Given the description of an element on the screen output the (x, y) to click on. 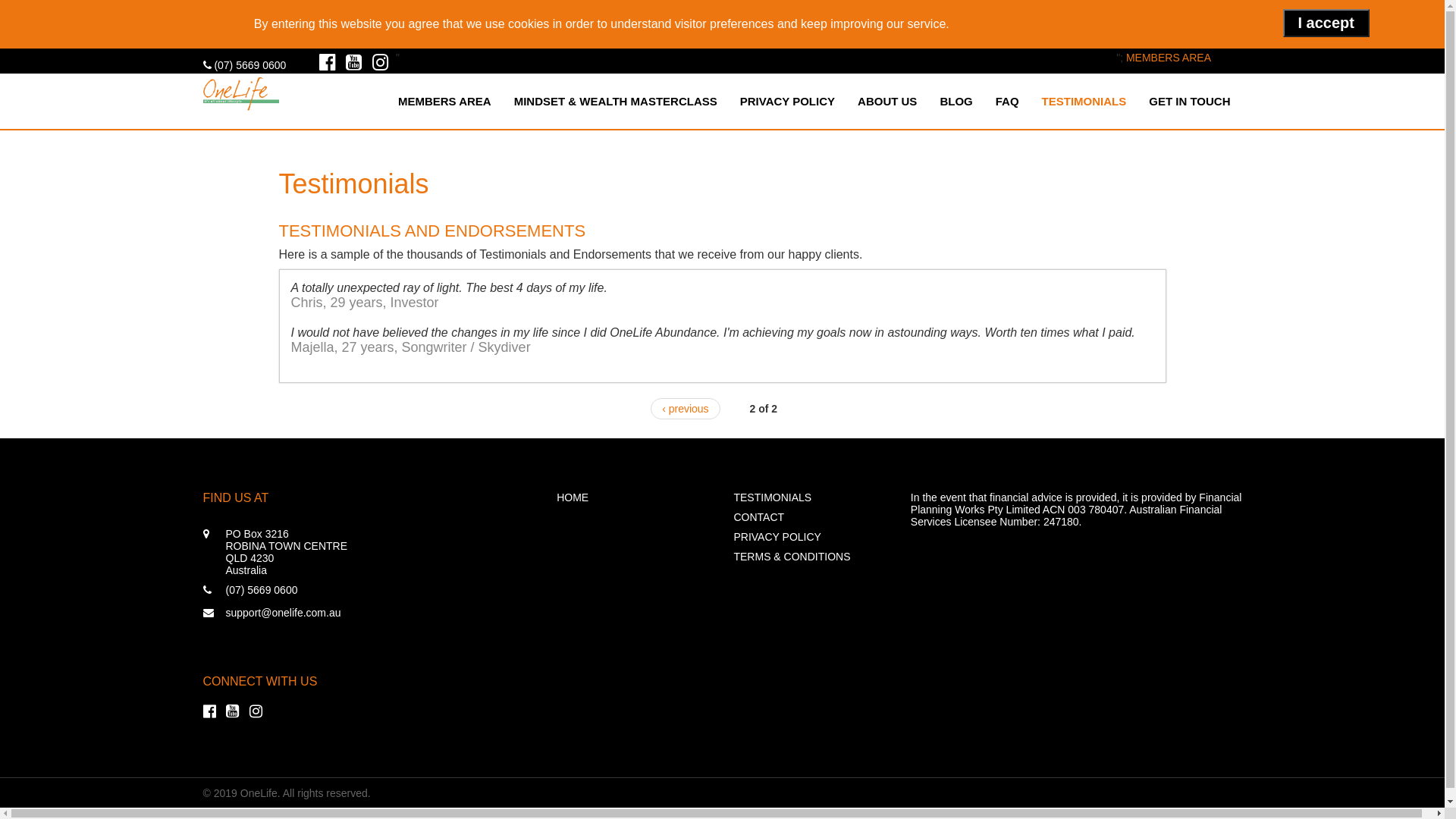
CONTACT Element type: text (810, 517)
TESTIMONIALS Element type: text (810, 497)
GET IN TOUCH Element type: text (1189, 100)
MEMBERS AREA Element type: text (1168, 57)
Skip to main content Element type: text (48, 0)
PRIVACY POLICY Element type: text (810, 536)
MINDSET & WEALTH MASTERCLASS Element type: text (615, 100)
HOME Element type: text (633, 497)
Home Element type: hover (241, 90)
ABOUT US Element type: text (887, 100)
(07) 5669 0600 Element type: text (244, 65)
PRIVACY POLICY Element type: text (787, 100)
BLOG Element type: text (955, 100)
TERMS & CONDITIONS Element type: text (810, 556)
FAQ Element type: text (1007, 100)
MEMBERS AREA Element type: text (444, 100)
TESTIMONIALS Element type: text (1084, 100)
I accept Element type: text (1326, 23)
